Given the description of an element on the screen output the (x, y) to click on. 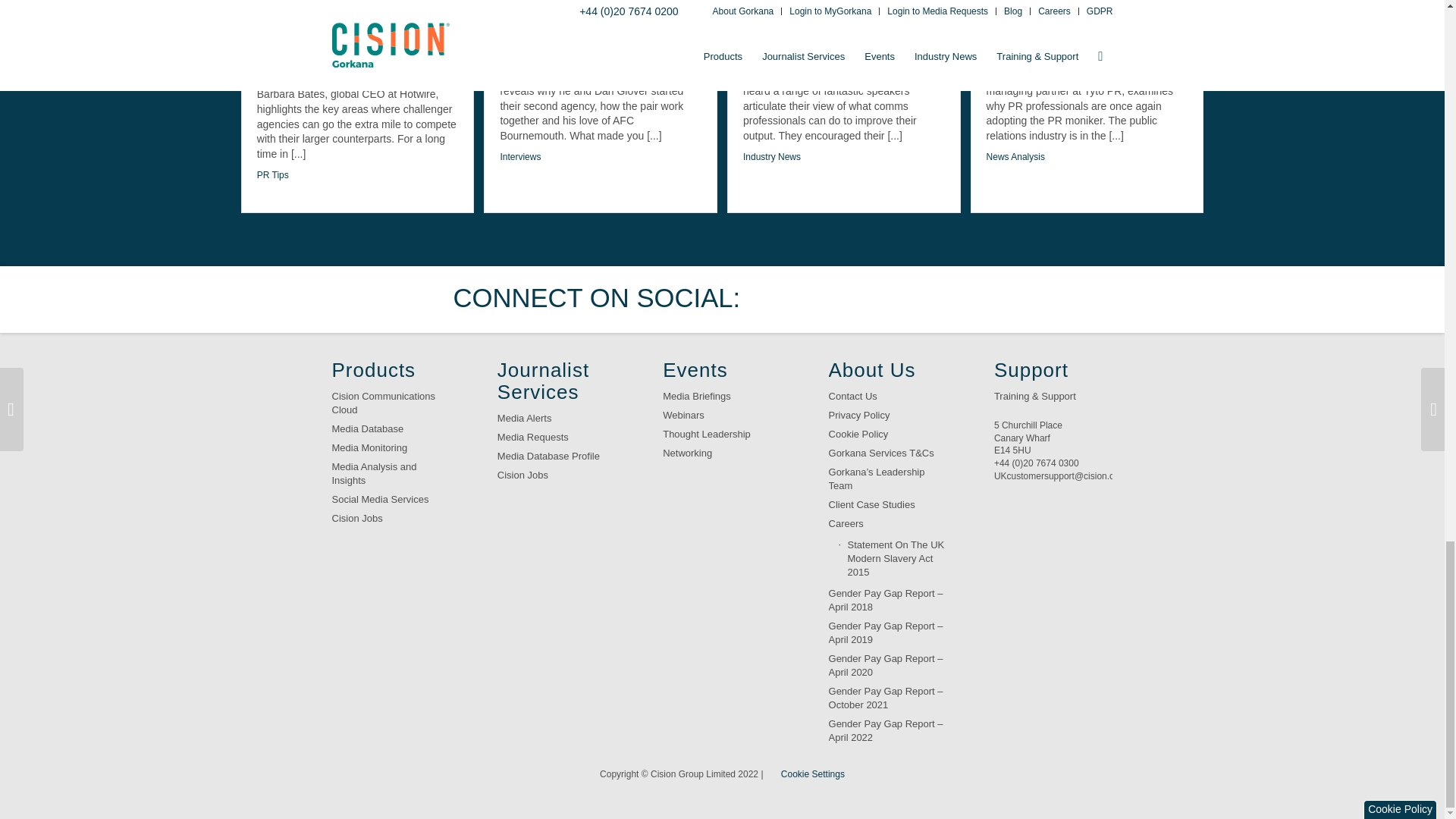
connect on Instagram (966, 298)
connect on Linkedin (872, 298)
connect on Facebook (824, 298)
connect on YouTube (918, 298)
connect on Twitter (777, 298)
